Given the description of an element on the screen output the (x, y) to click on. 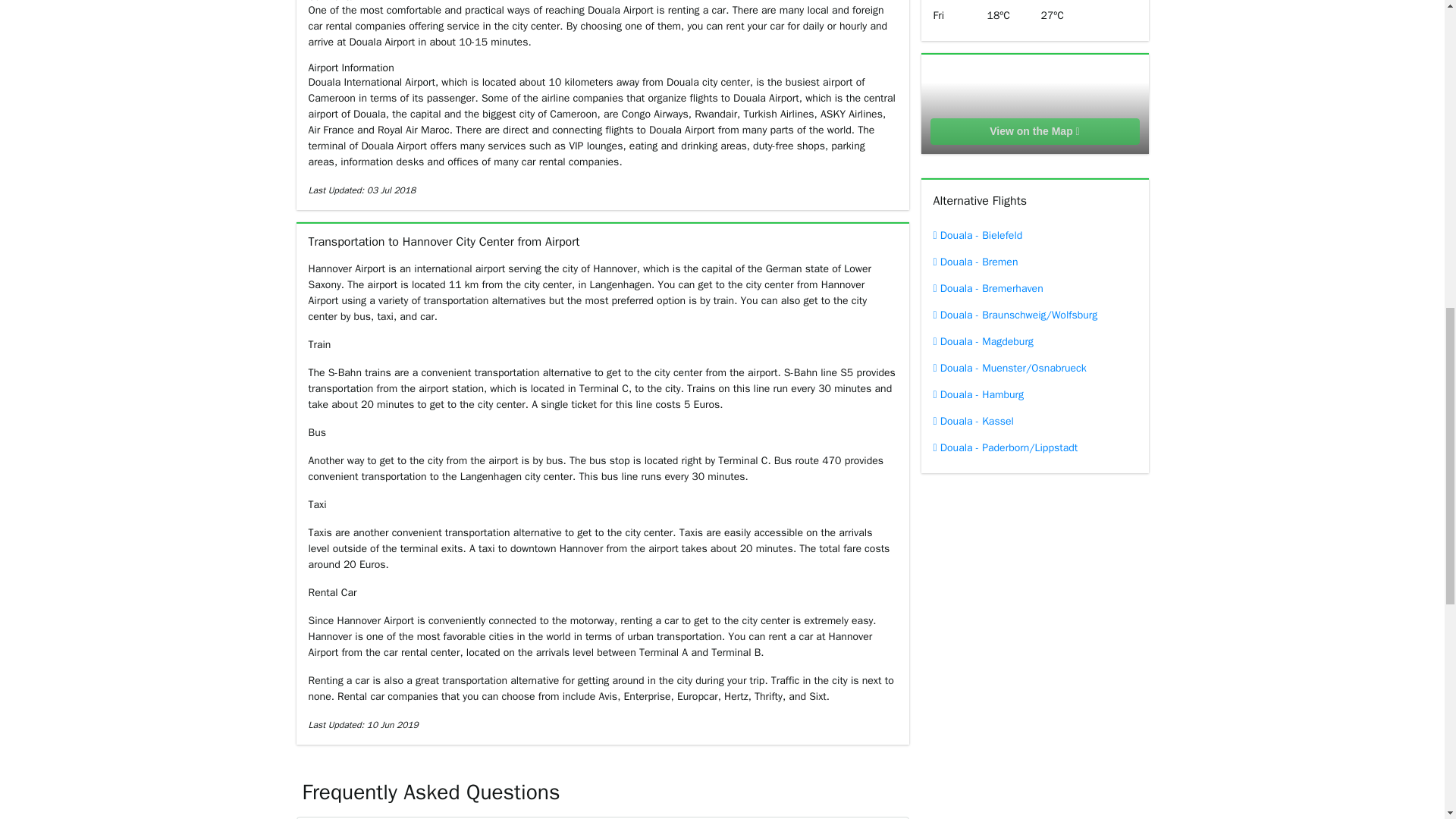
Douala - Kassel (1034, 420)
Douala - Bielefeld (1034, 234)
Douala - Bremerhaven (1034, 288)
Douala - Bremen (1034, 261)
Douala - Magdeburg (1034, 341)
Douala - Hamburg (1034, 394)
